Given the description of an element on the screen output the (x, y) to click on. 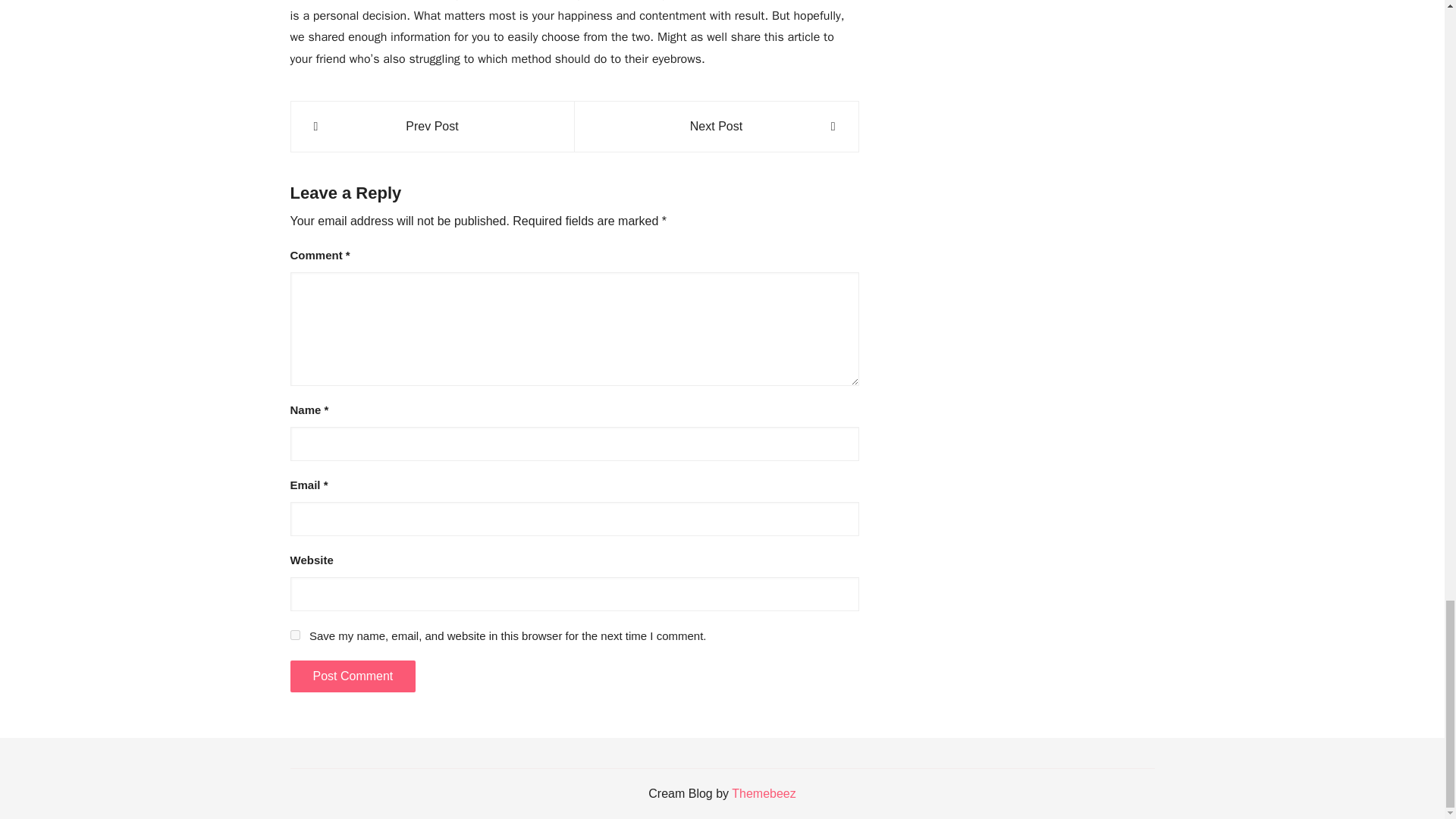
Post Comment (351, 676)
yes (294, 634)
Prev Post (432, 126)
Themebeez (764, 793)
Next Post (715, 126)
Post Comment (351, 676)
